Given the description of an element on the screen output the (x, y) to click on. 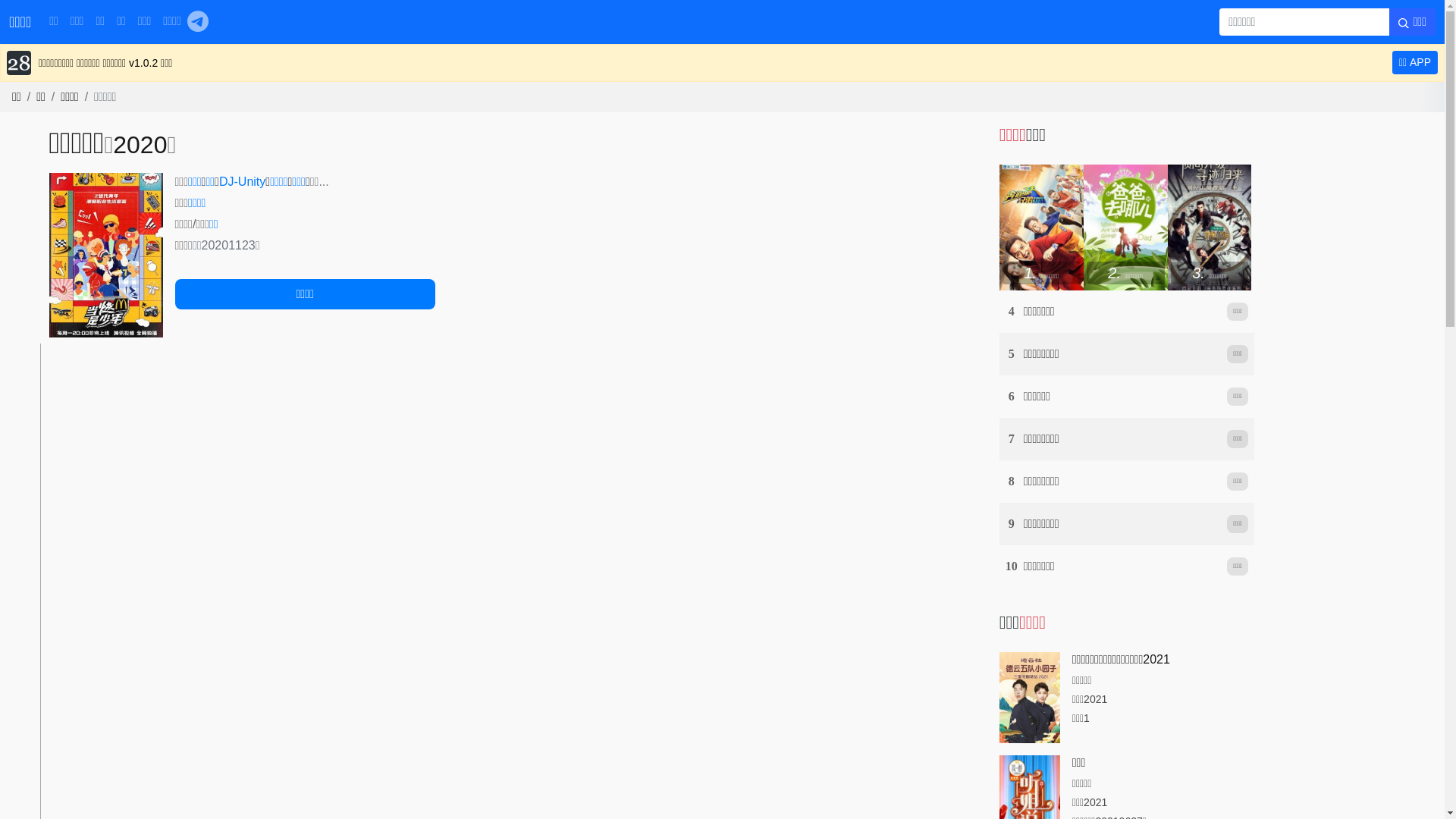
DJ-Unity Element type: text (242, 181)
2020 Element type: text (139, 144)
